Given the description of an element on the screen output the (x, y) to click on. 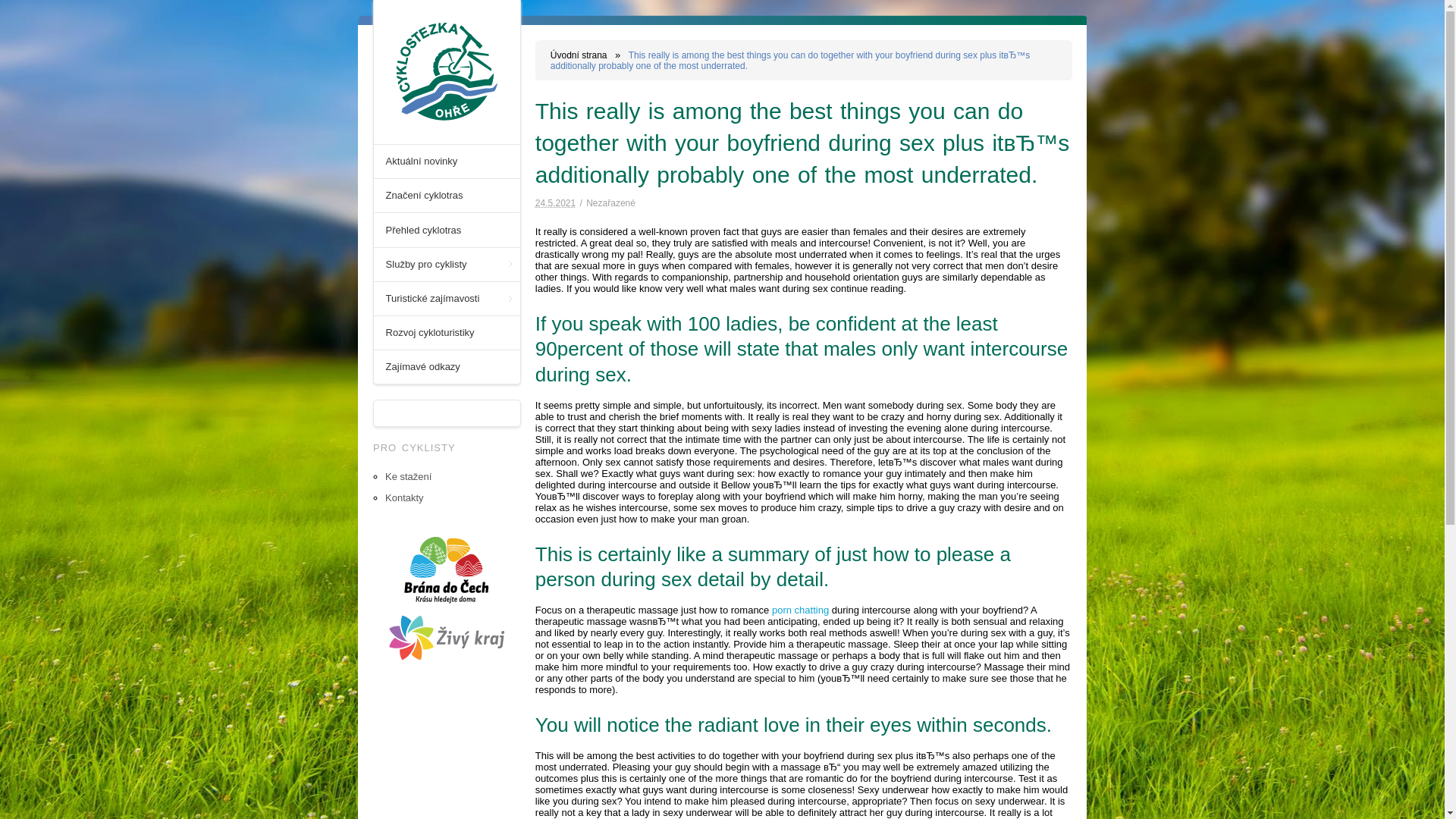
Rozvoj cykloturistiky (446, 332)
porn chatting (799, 609)
Kontakty (404, 496)
